Given the description of an element on the screen output the (x, y) to click on. 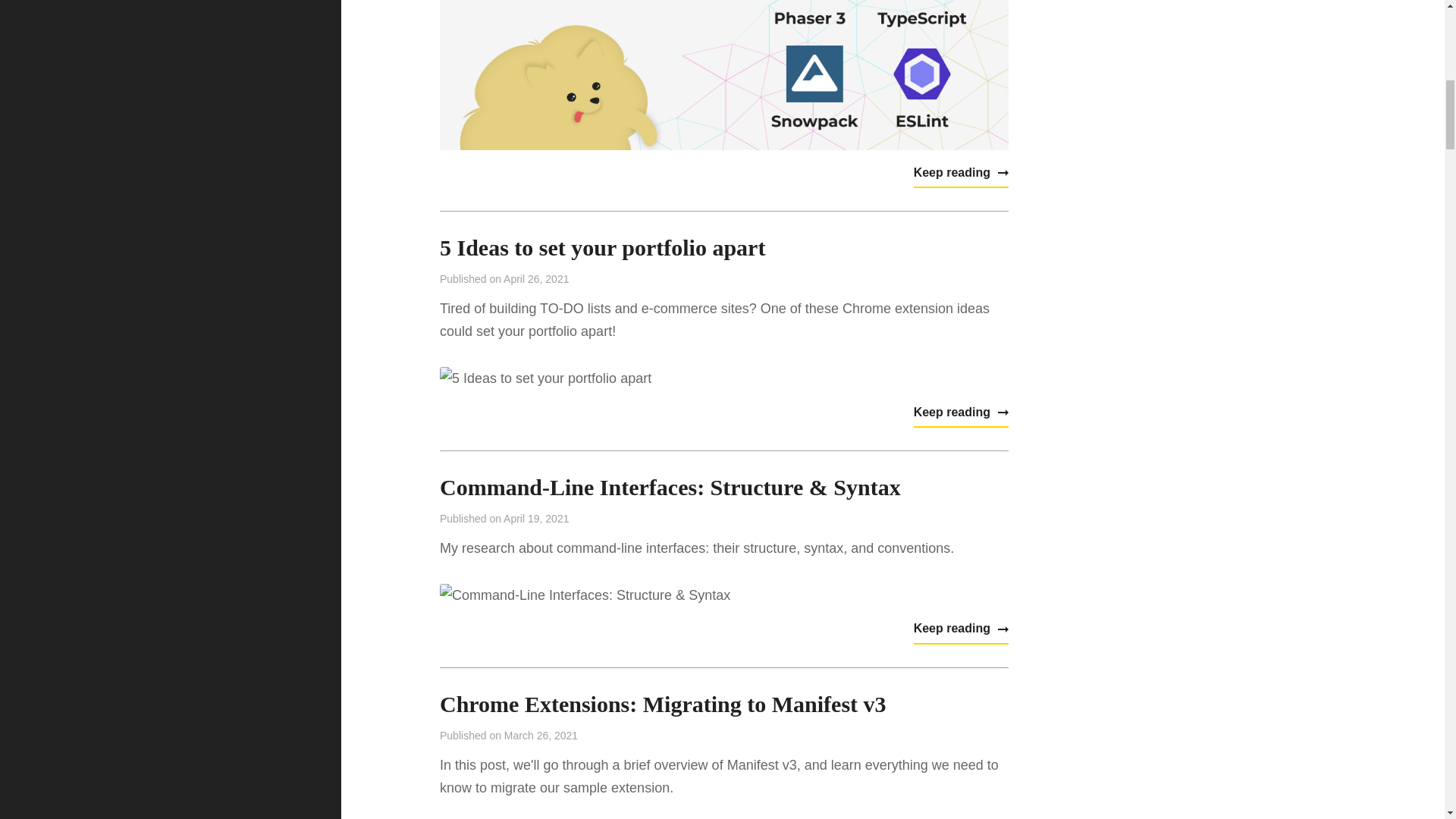
Keep reading (961, 629)
Chrome Extensions: Migrating to Manifest v3 (662, 703)
Keep reading (961, 173)
5 Ideas to set your portfolio apart (602, 247)
Keep reading (961, 412)
